Given the description of an element on the screen output the (x, y) to click on. 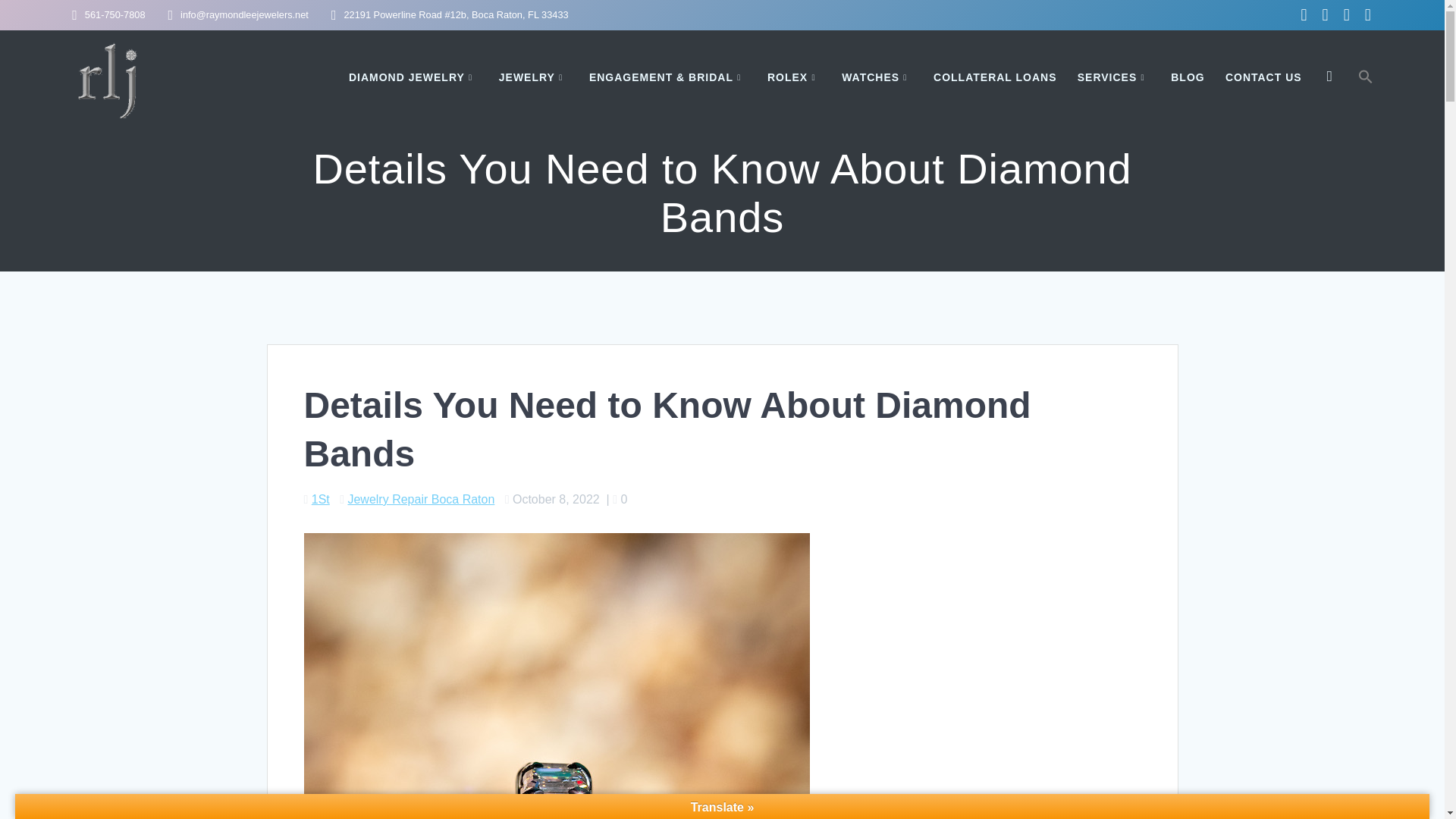
JEWELRY (534, 77)
Posts by 1St (320, 499)
DIAMOND JEWELRY (414, 77)
